Given the description of an element on the screen output the (x, y) to click on. 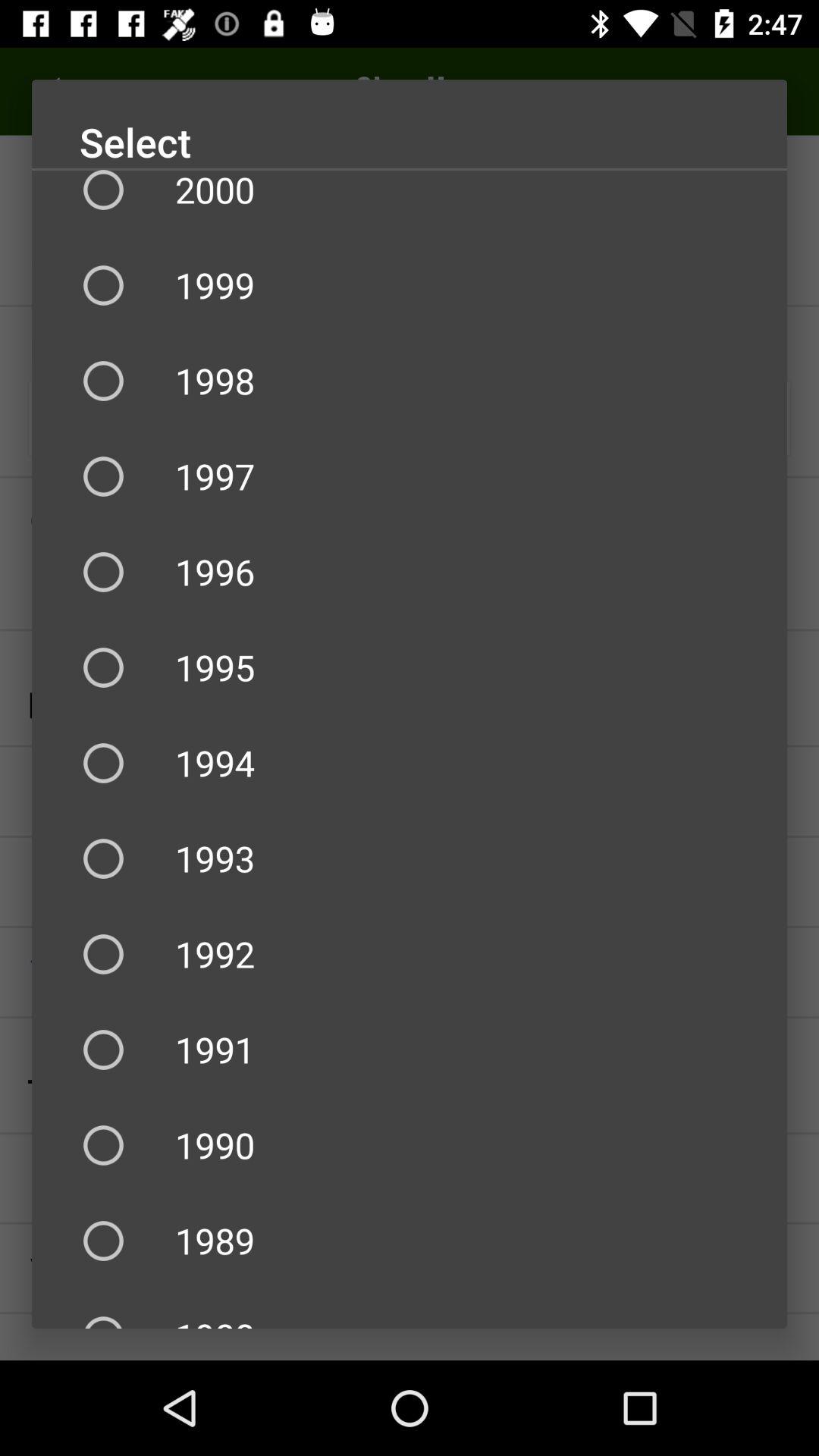
jump until 2000 item (409, 202)
